Given the description of an element on the screen output the (x, y) to click on. 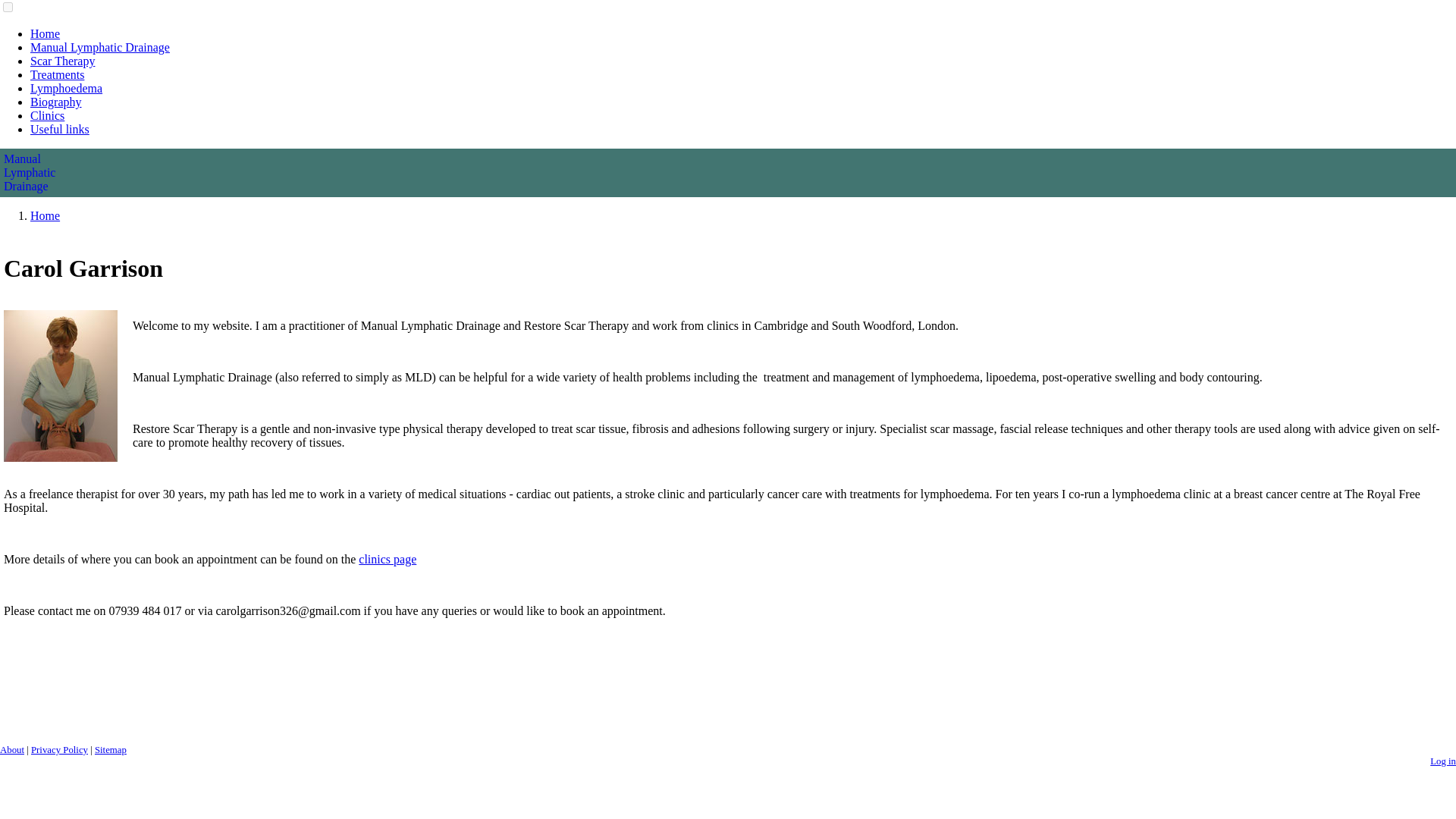
Clinics (387, 558)
Privacy Policy (58, 749)
Treatments (57, 74)
Lymphoedema (65, 88)
About (12, 749)
Useful links (59, 128)
Scar Therapy (62, 60)
Home (44, 33)
Sitemap (110, 749)
Biography (55, 101)
on (7, 7)
clinics page (387, 558)
Clinics (47, 115)
Home (727, 172)
